Given the description of an element on the screen output the (x, y) to click on. 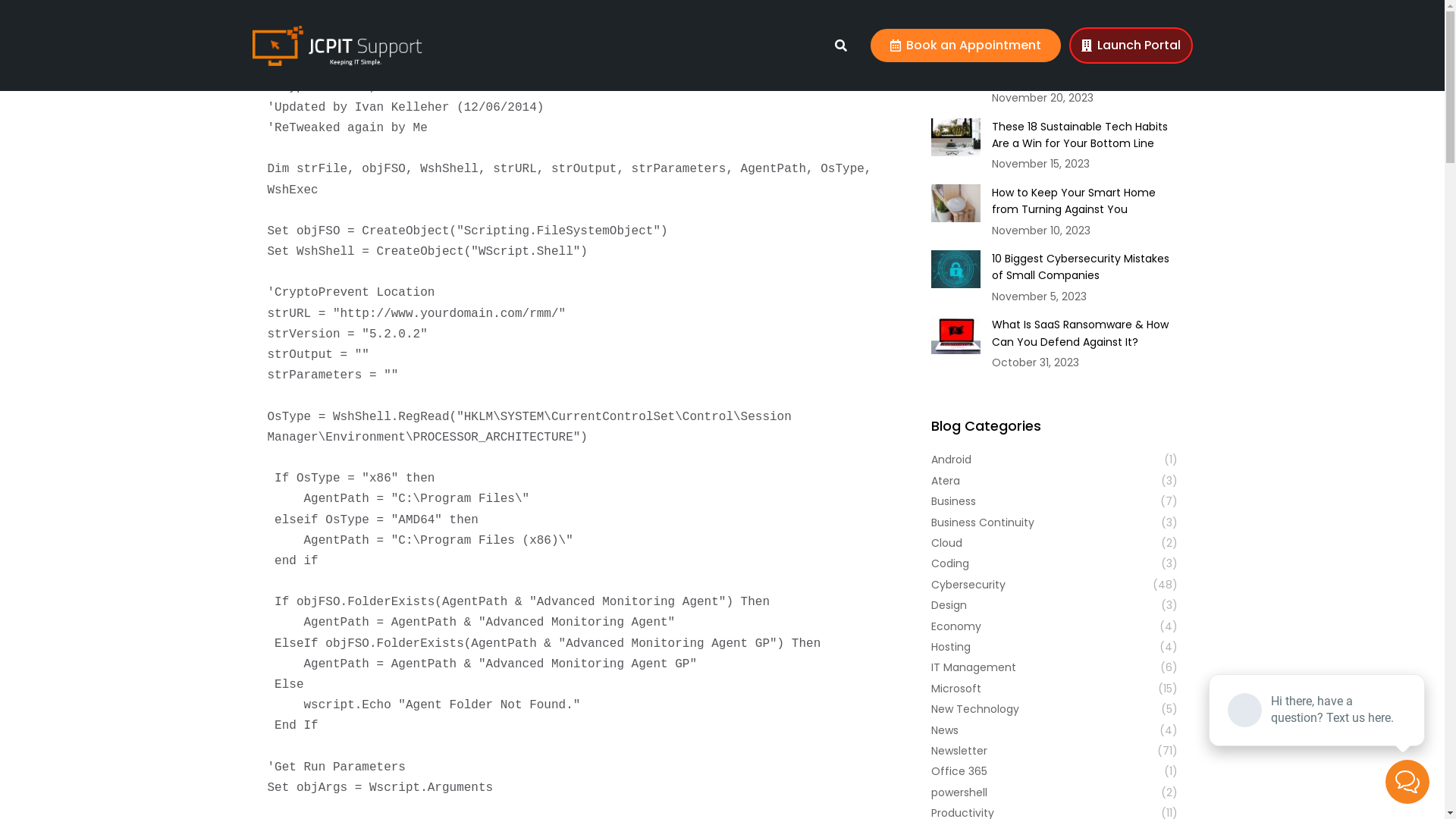
Book an Appointment Element type: text (965, 45)
Watch Out for Ransomware Pretending to Be a Windows Update! Element type: text (1084, 59)
How to Keep Your Smart Home from Turning Against You Element type: text (1084, 201)
10 Biggest Cybersecurity Mistakes of Small Companies Element type: text (1084, 267)
Post Comment Element type: text (58, 14)
What Is SaaS Ransomware & How Can You Defend Against It? Element type: text (1084, 333)
Launch Portal Element type: text (1130, 45)
